Given the description of an element on the screen output the (x, y) to click on. 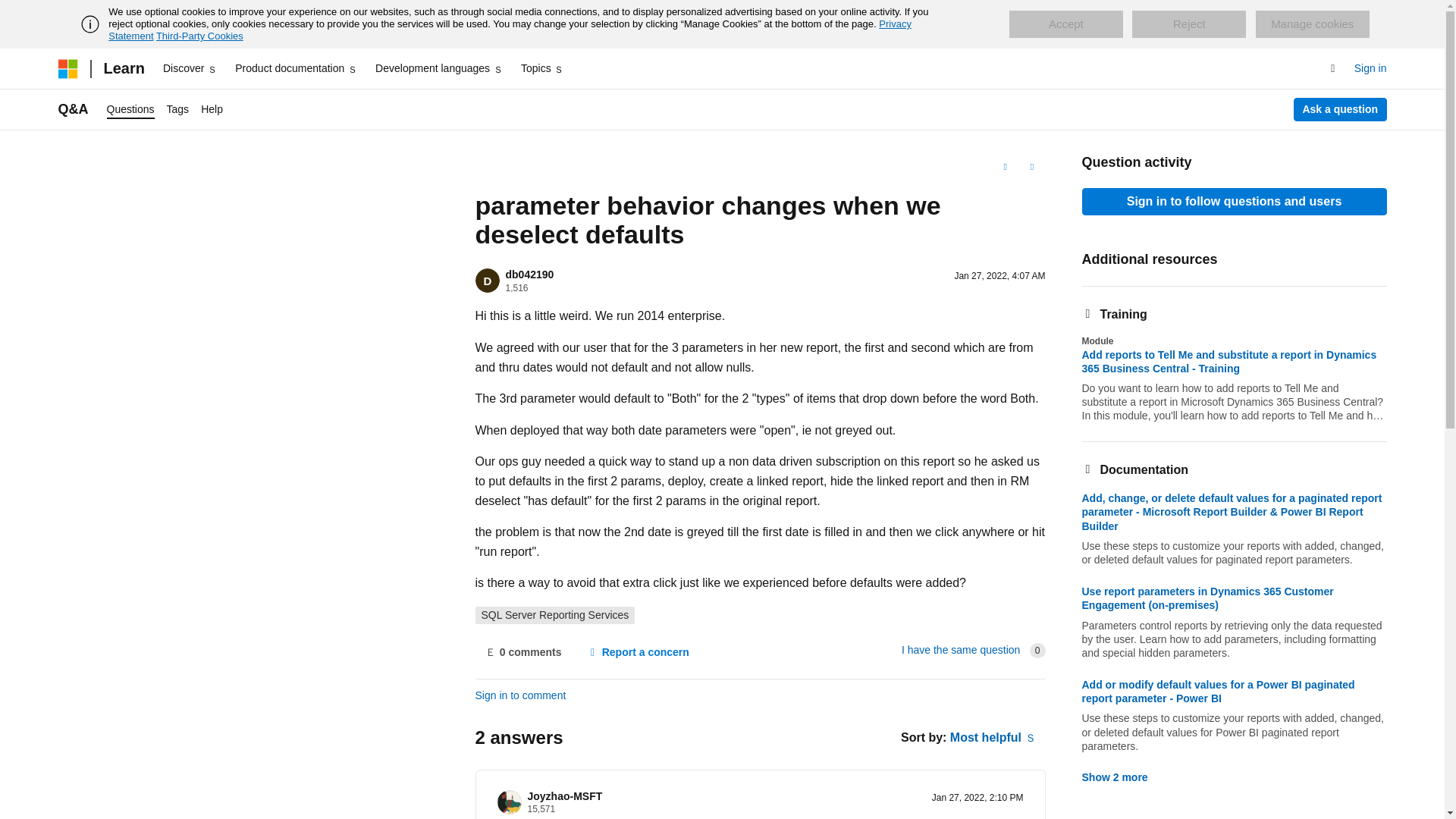
Manage cookies (1312, 23)
Reputation points (516, 287)
Report a concern (637, 652)
Questions (130, 109)
You have the same or similar question (960, 649)
Discover (189, 68)
Reputation points (541, 808)
Reject (1189, 23)
No comments (522, 652)
Product documentation (295, 68)
